Given the description of an element on the screen output the (x, y) to click on. 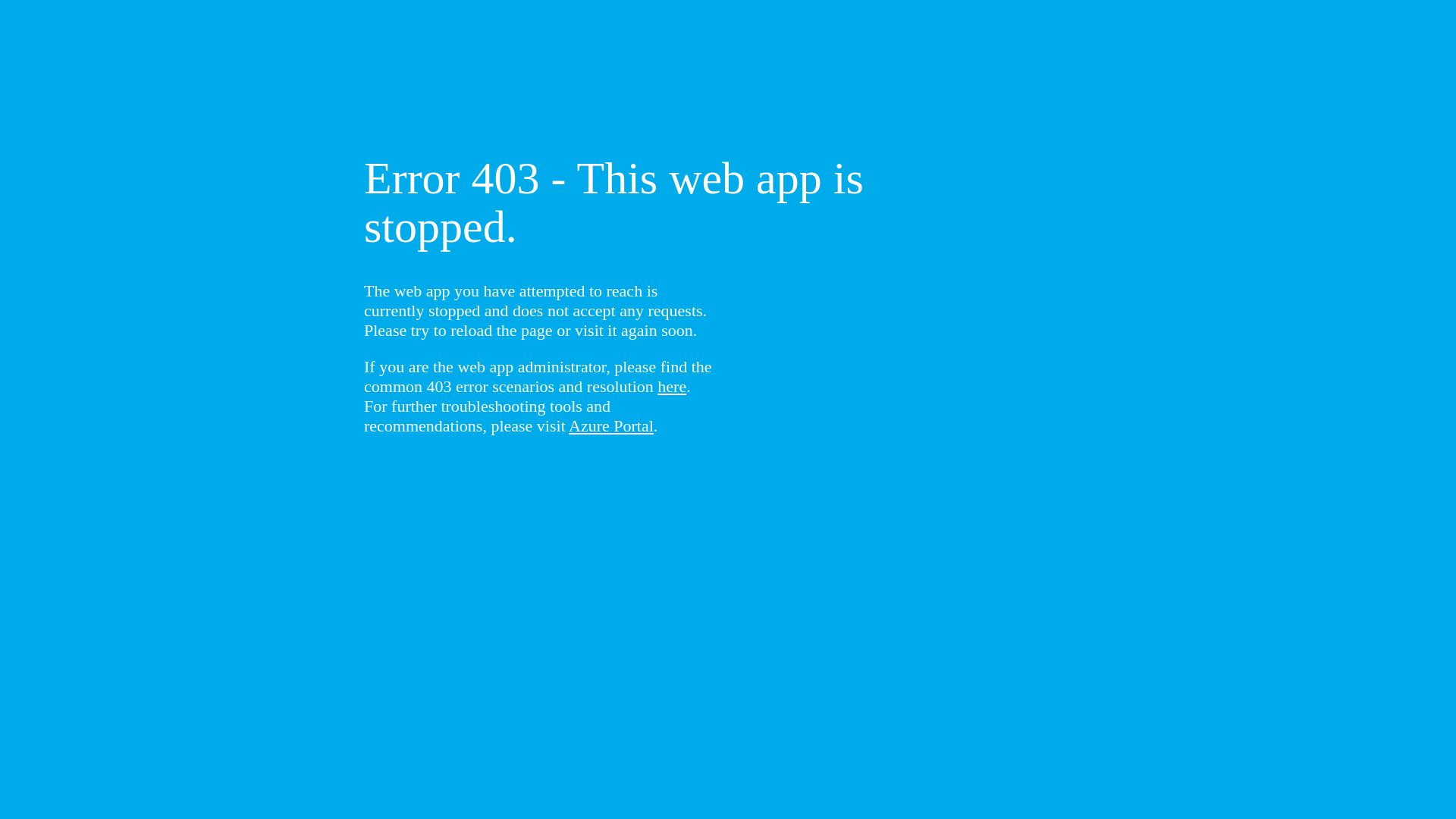
Azure Portal Element type: text (610, 425)
here Element type: text (671, 385)
